Given the description of an element on the screen output the (x, y) to click on. 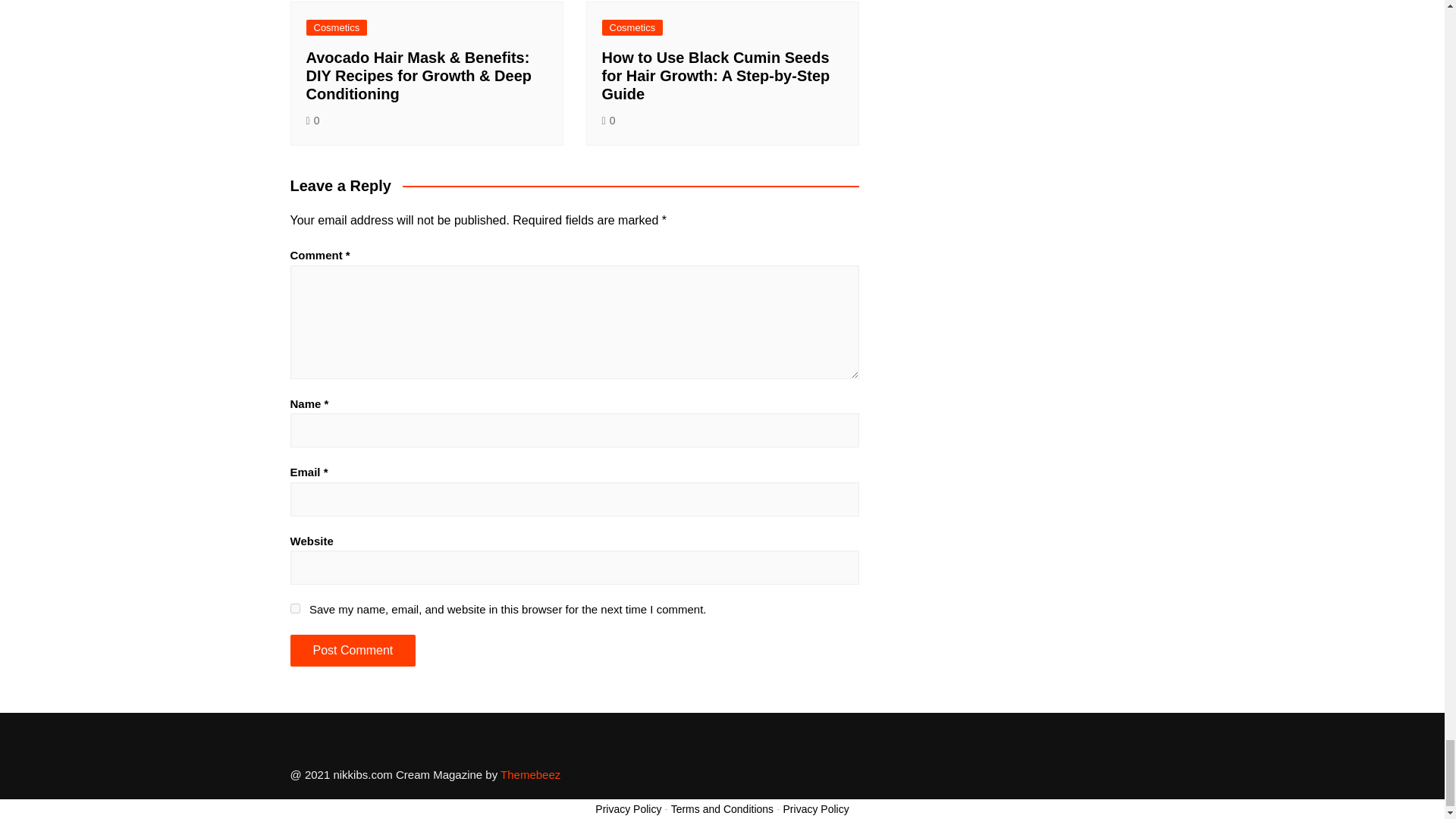
Post Comment (351, 650)
yes (294, 608)
Post Comment (351, 650)
Cosmetics (336, 27)
Cosmetics (632, 27)
